Given the description of an element on the screen output the (x, y) to click on. 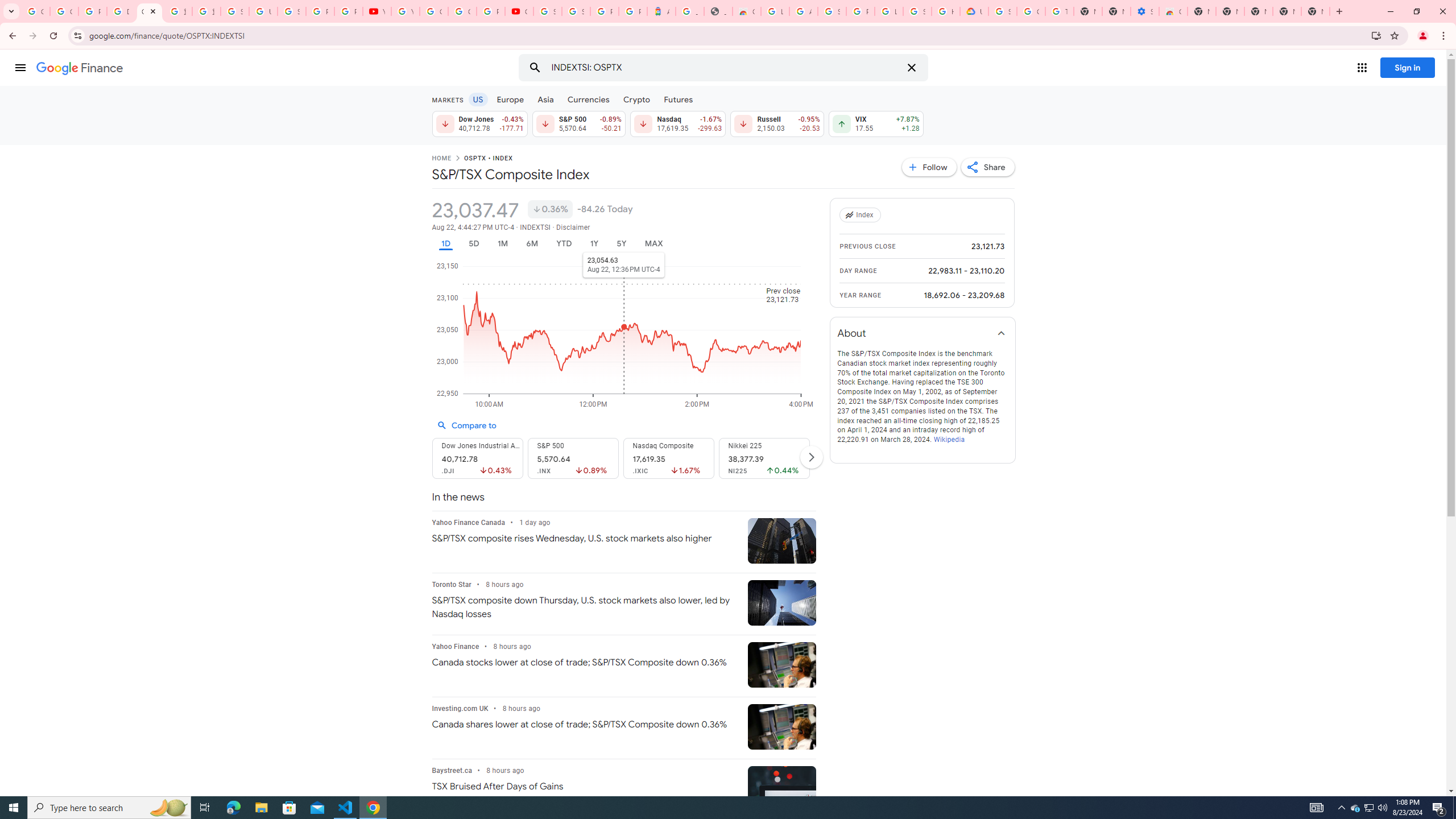
Futures (678, 99)
Install Google Finance (1376, 35)
S&P 500 5,570.64 Down by 0.89% -50.21 (578, 123)
Europe (510, 99)
Ad Settings (803, 11)
Atour Hotel - Google hotels (661, 11)
Sign in - Google Accounts (1002, 11)
YouTube (405, 11)
Privacy Checkup (348, 11)
HOME (440, 158)
About (923, 332)
1Y (594, 243)
